Given the description of an element on the screen output the (x, y) to click on. 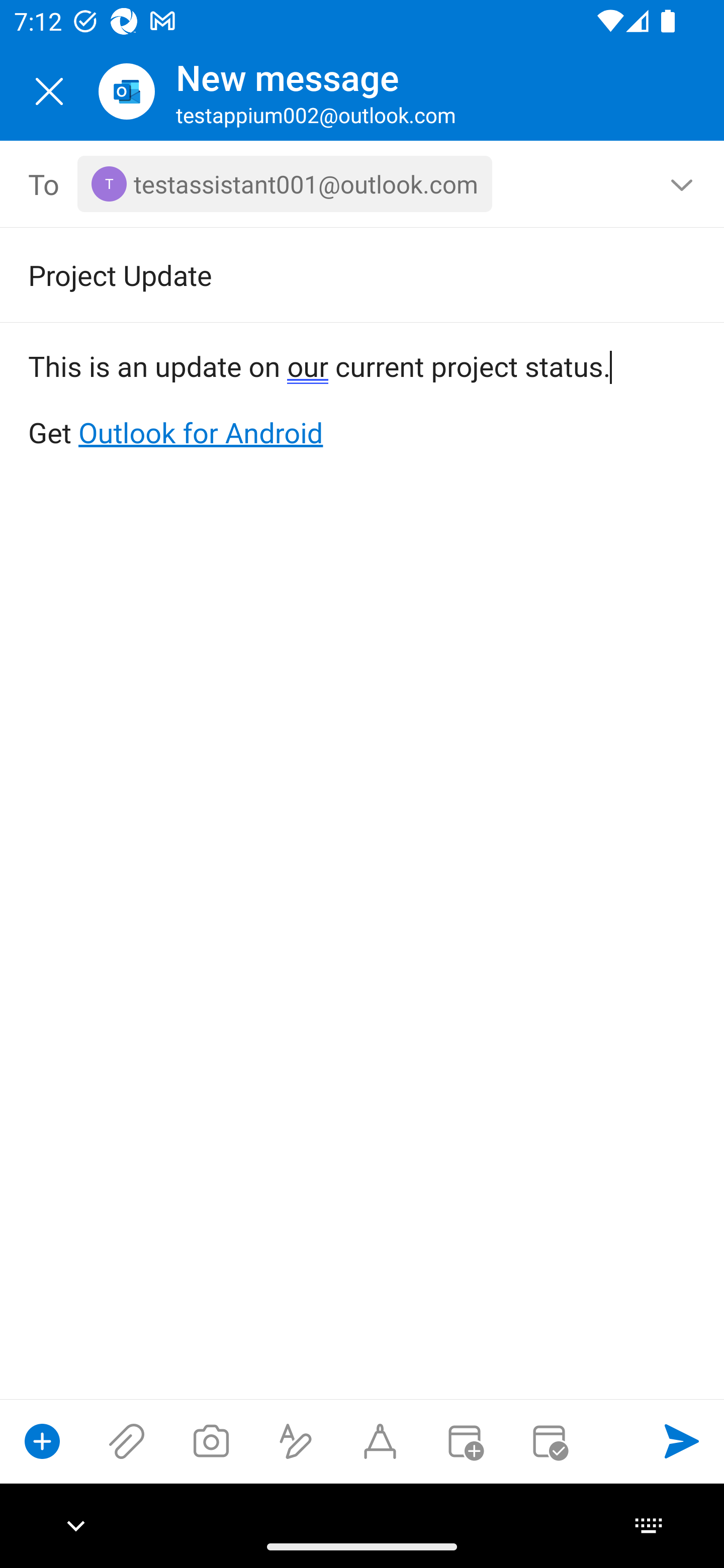
Close (49, 91)
To, 1 recipient <testassistant001@outlook.com> (362, 184)
Project Update (333, 274)
Show compose options (42, 1440)
Attach files (126, 1440)
Take a photo (210, 1440)
Show formatting options (295, 1440)
Start Ink compose (380, 1440)
Convert to event (464, 1440)
Send availability (548, 1440)
Send (681, 1440)
